Given the description of an element on the screen output the (x, y) to click on. 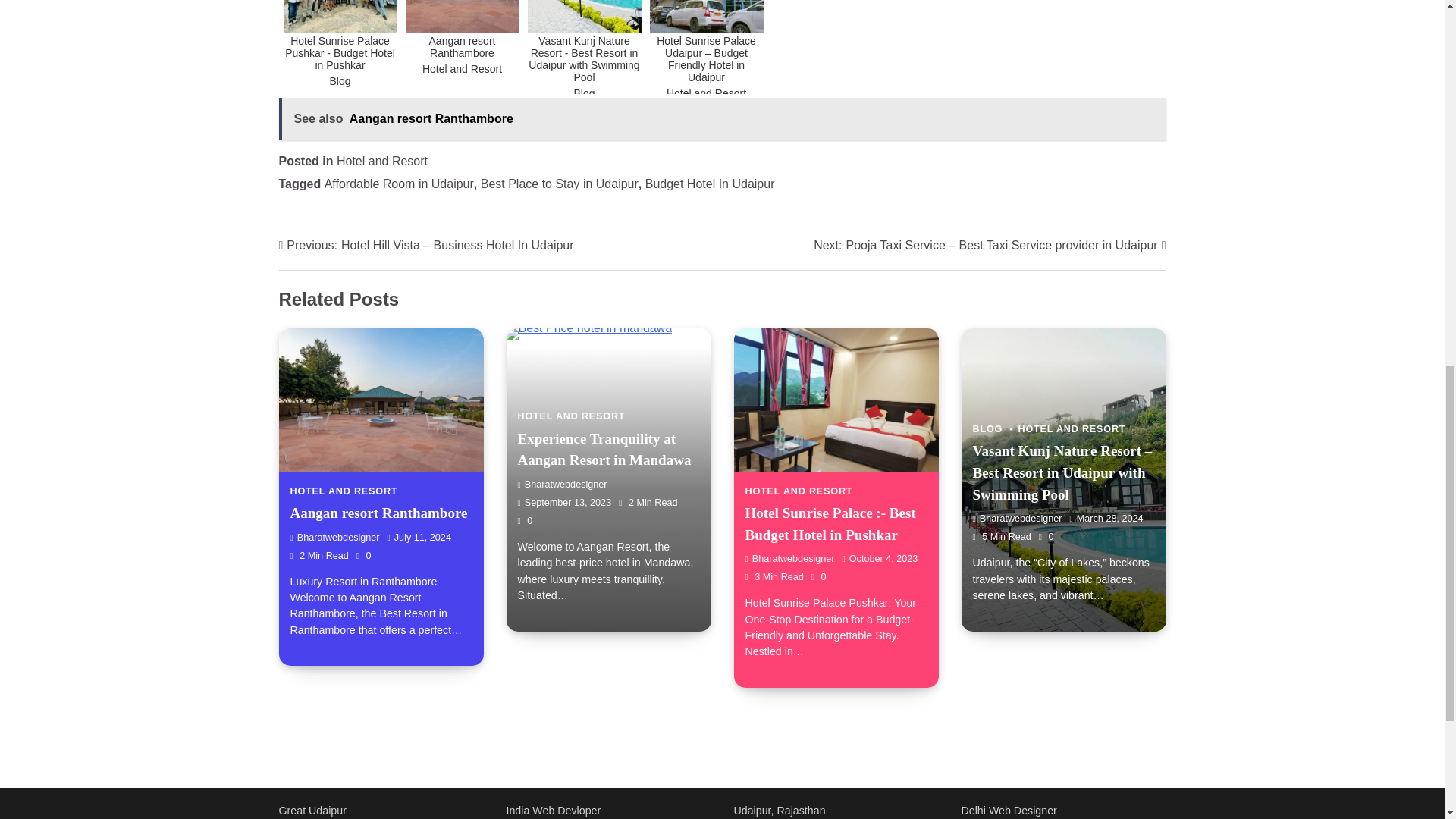
Great Udaipur (312, 810)
Bharatwebdesigner (789, 558)
HOTEL AND RESORT (343, 491)
Bharatwebdesigner (561, 484)
Affordable Room in Udaipur (399, 183)
Budget Hotel In Udaipur (709, 183)
Bharatwebdesigner (1016, 518)
Hotel Sunrise Palace :- Best Budget Hotel in Pushkar (829, 523)
